Given the description of an element on the screen output the (x, y) to click on. 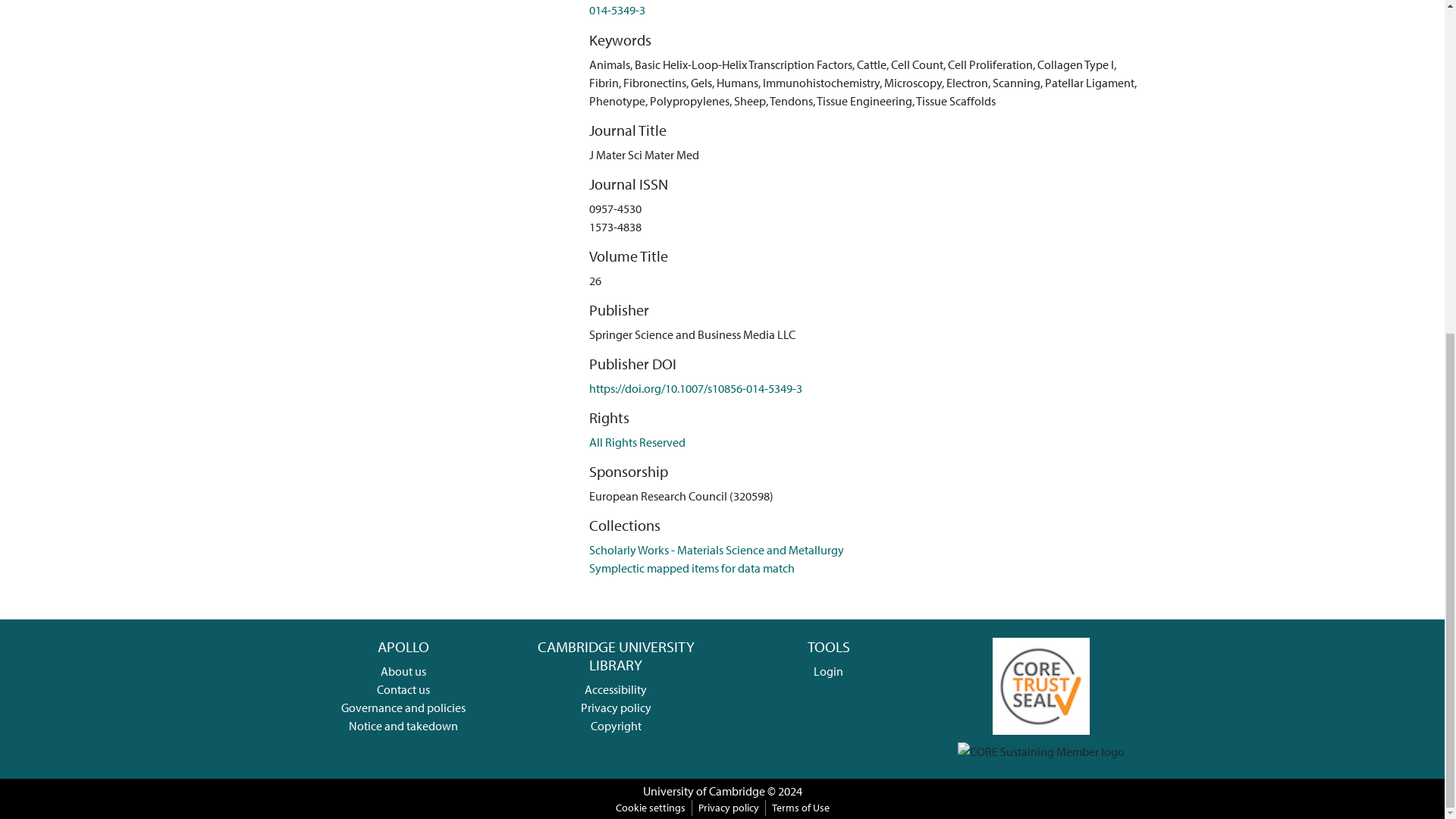
Privacy policy (615, 707)
Contact us (403, 688)
Scholarly Works - Materials Science and Metallurgy (716, 549)
Symplectic mapped items for data match (691, 567)
Notice and takedown (403, 725)
Governance and policies (402, 707)
Copyright (616, 725)
All Rights Reserved (637, 441)
Apollo CTS full application (1040, 684)
Accessibility (615, 688)
